Given the description of an element on the screen output the (x, y) to click on. 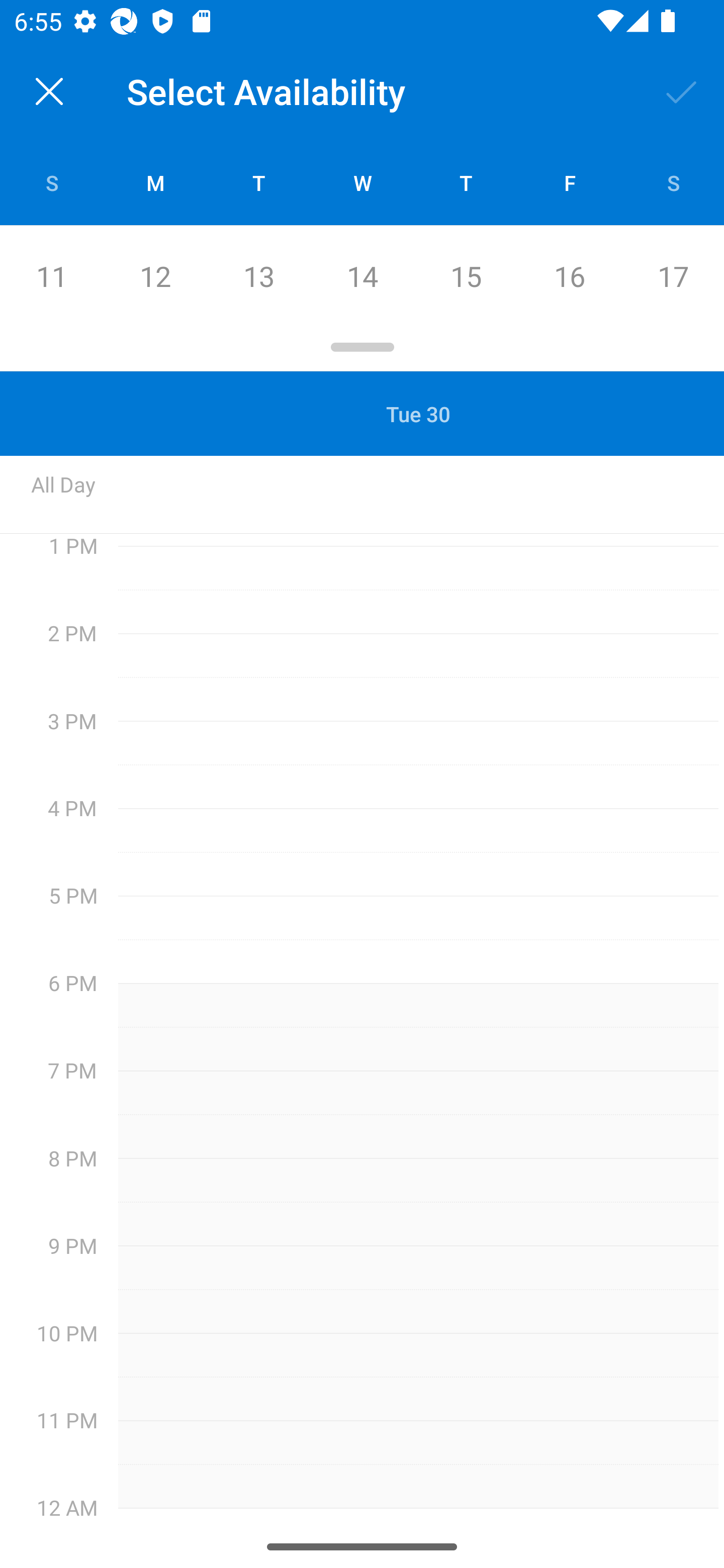
Close (49, 91)
Done button (681, 90)
11 Sunday, February 11 (51, 277)
12 Monday, February 12 (155, 277)
13 Tuesday, February 13 (258, 277)
14 Wednesday, February 14 (362, 277)
15 Thursday, February 15 (465, 277)
16 Friday, February 16 (569, 277)
17 Saturday, February 17 (672, 277)
Day picker expand (362, 350)
